Given the description of an element on the screen output the (x, y) to click on. 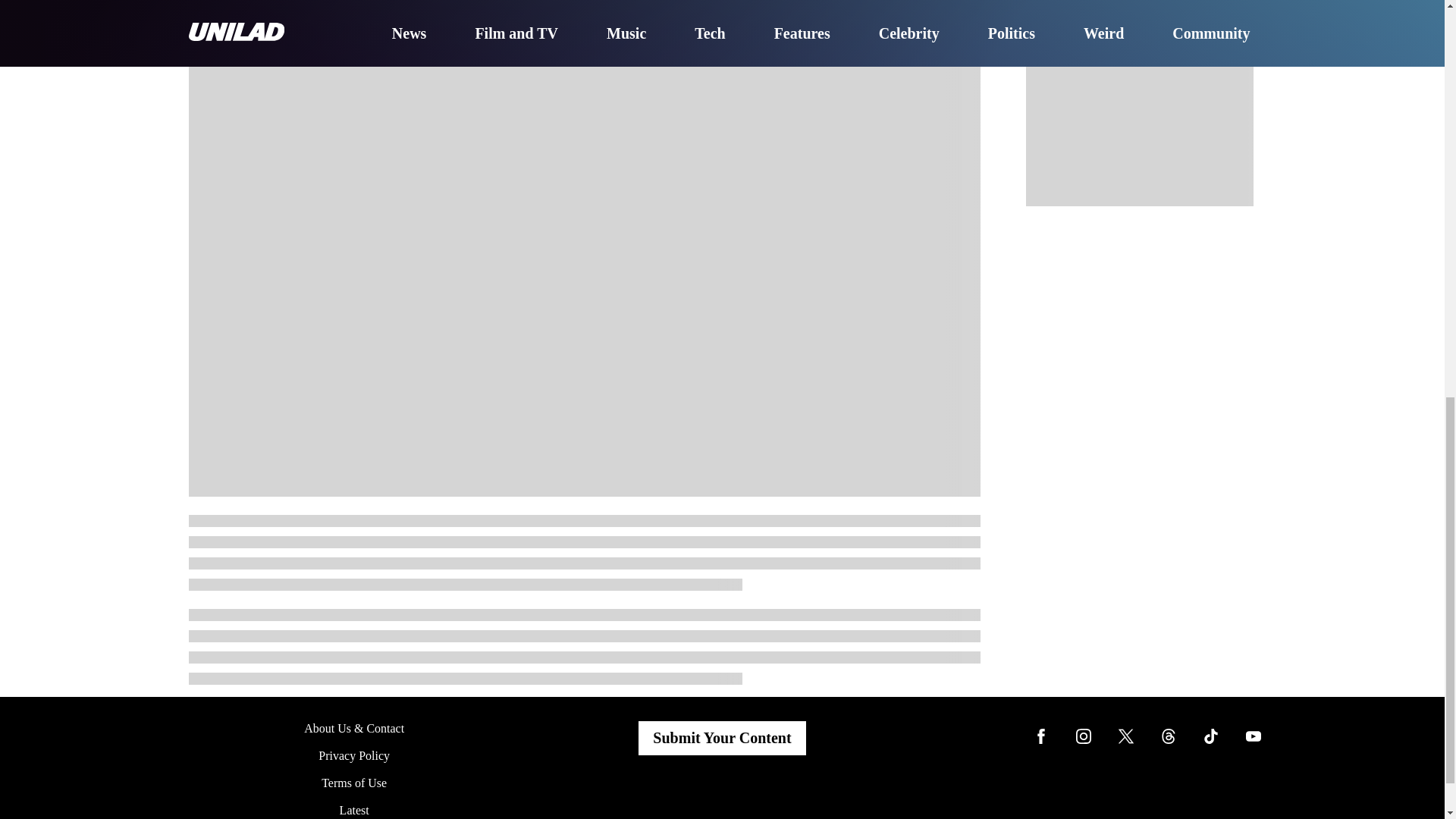
Submit Your Content (721, 737)
Latest (354, 806)
Privacy Policy (354, 755)
Terms of Use (354, 782)
